Given the description of an element on the screen output the (x, y) to click on. 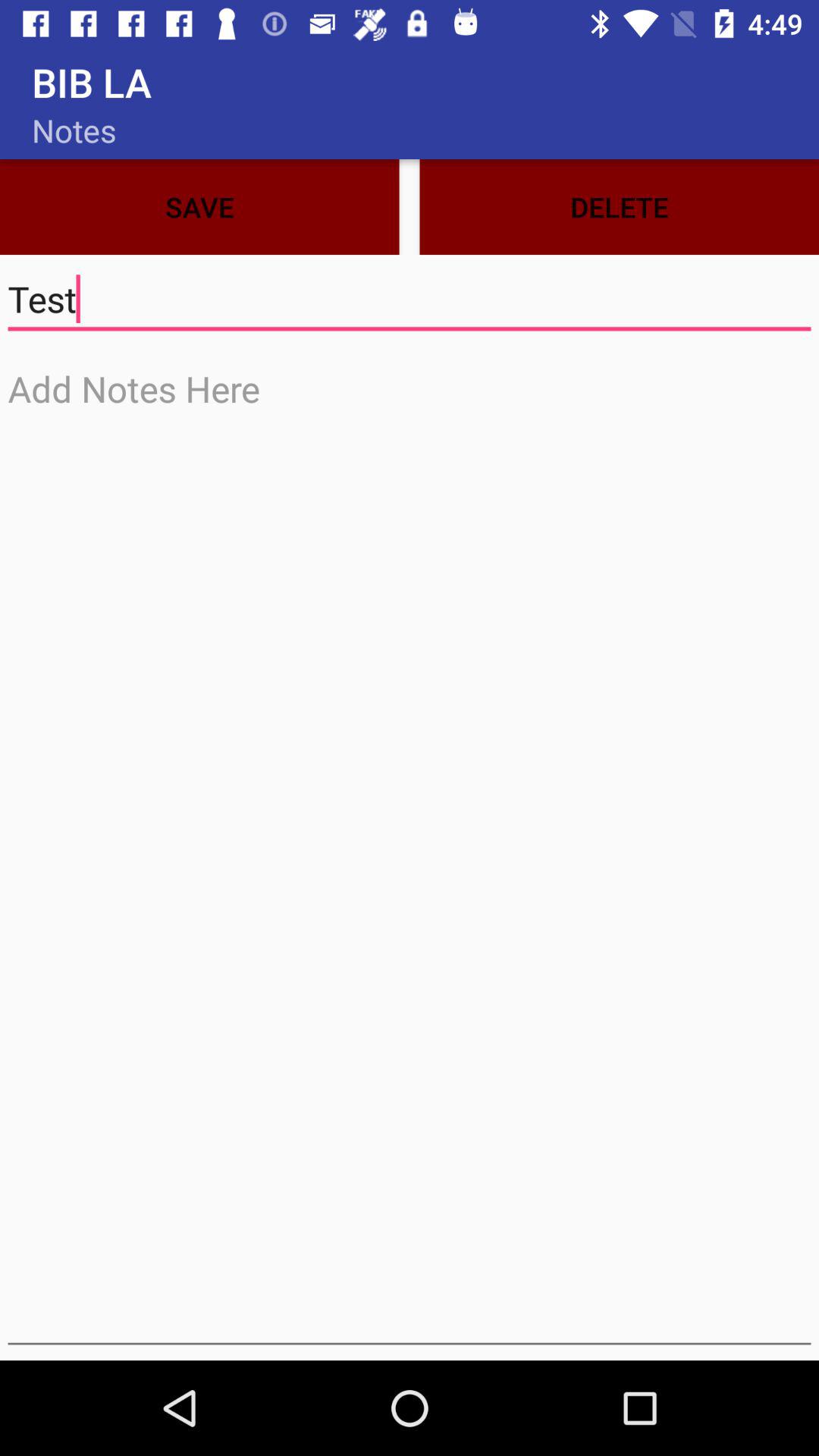
press the item above test icon (199, 206)
